Given the description of an element on the screen output the (x, y) to click on. 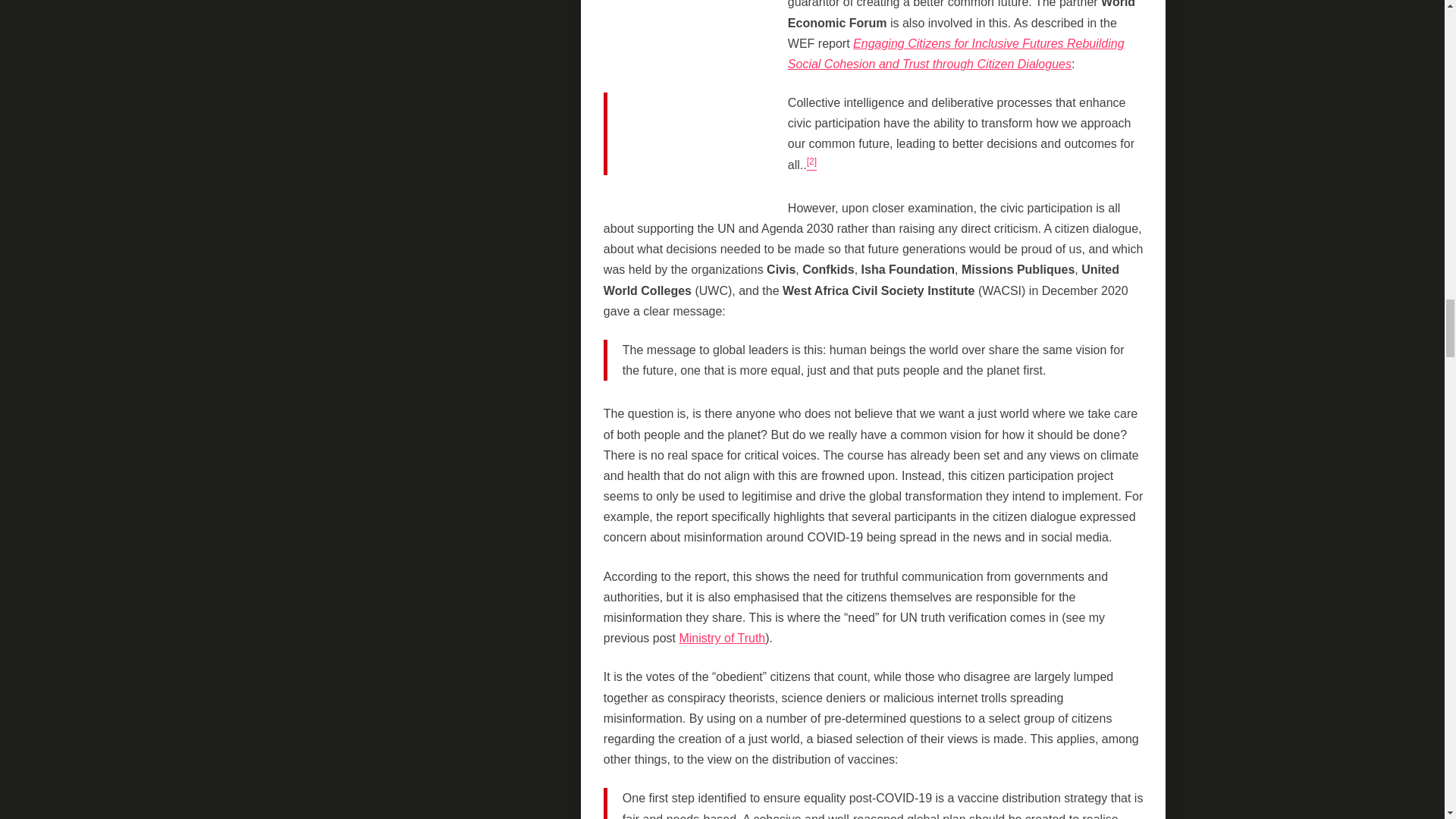
Ministry of Truth (721, 637)
